Given the description of an element on the screen output the (x, y) to click on. 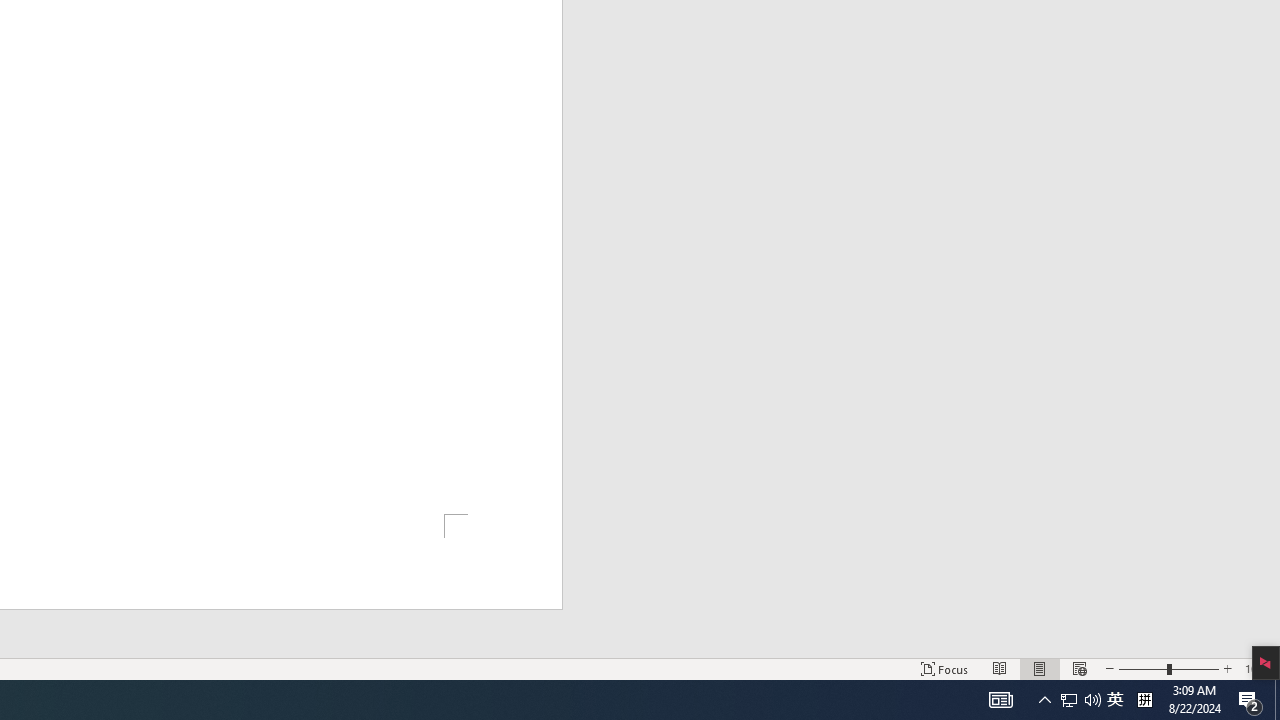
Zoom 100% (1258, 668)
